Given the description of an element on the screen output the (x, y) to click on. 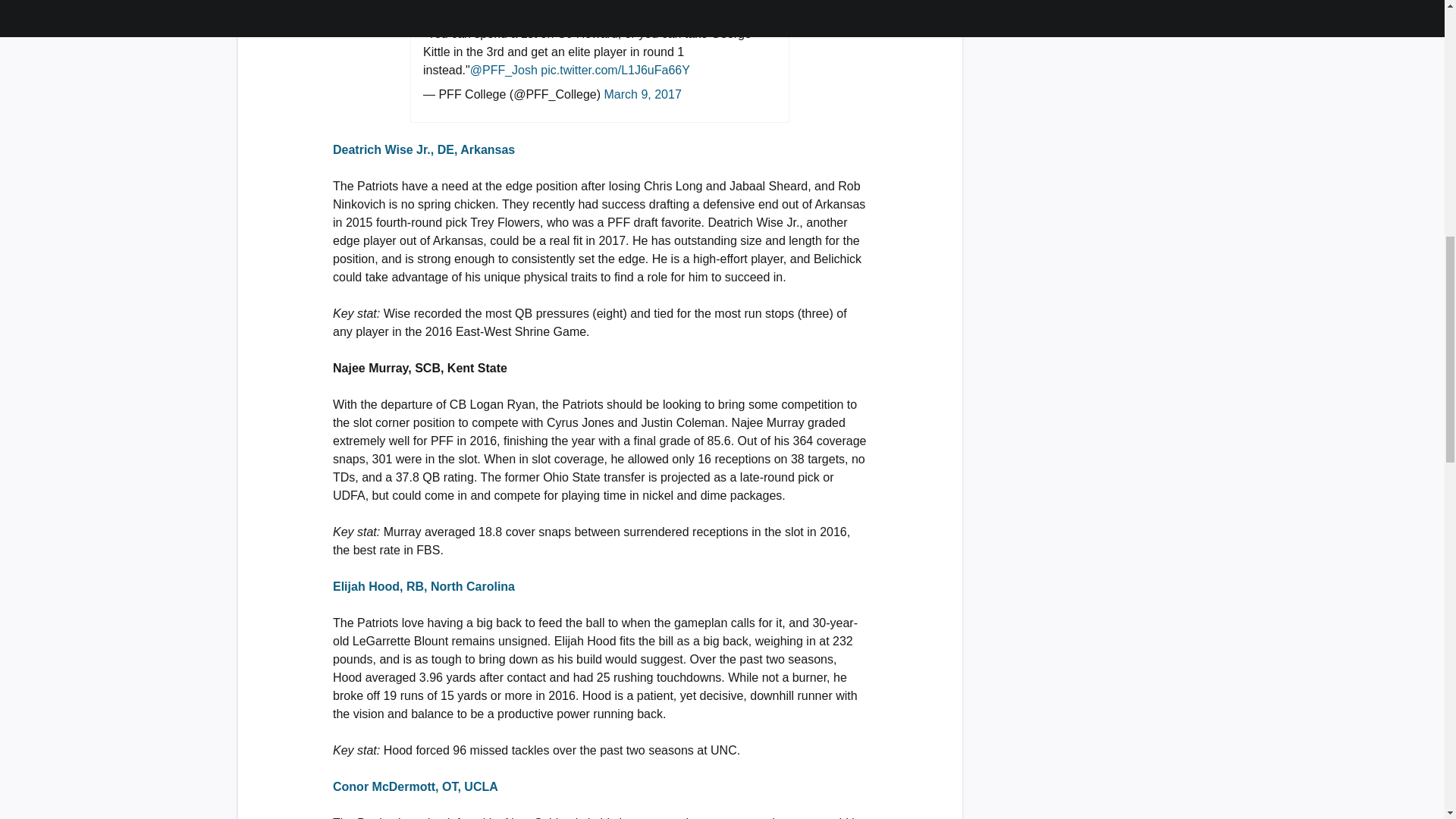
Elijah Hood, RB, North Carolina (424, 585)
Deatrich Wise Jr., DE, Arkansas (424, 149)
Conor McDermott, OT, UCLA (415, 786)
March 9, 2017 (642, 93)
